Given the description of an element on the screen output the (x, y) to click on. 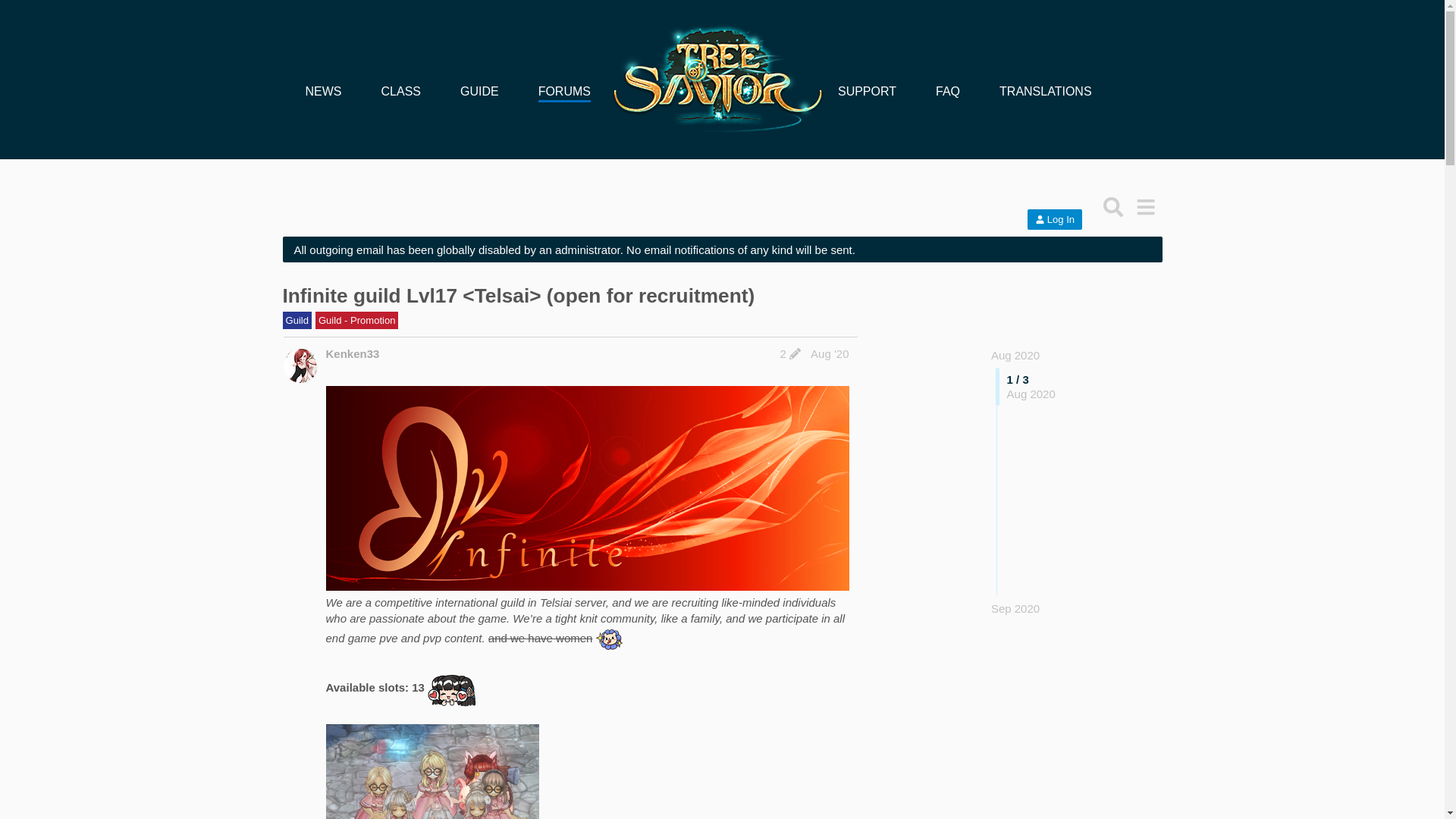
Aug 2020 (1015, 354)
Guild (296, 320)
NEWS (322, 91)
SUPPORT (867, 91)
Promote ye guild here. (357, 319)
Log In (1054, 219)
GUIDE (479, 91)
infinitebanner1 (587, 487)
Aug '20 (829, 353)
2 (789, 353)
Guild - Promotion (356, 320)
FAQ (947, 91)
TRANSLATIONS (1045, 91)
Discuss topics related to Guilds here. (296, 319)
Sep 2020 (1015, 608)
